Given the description of an element on the screen output the (x, y) to click on. 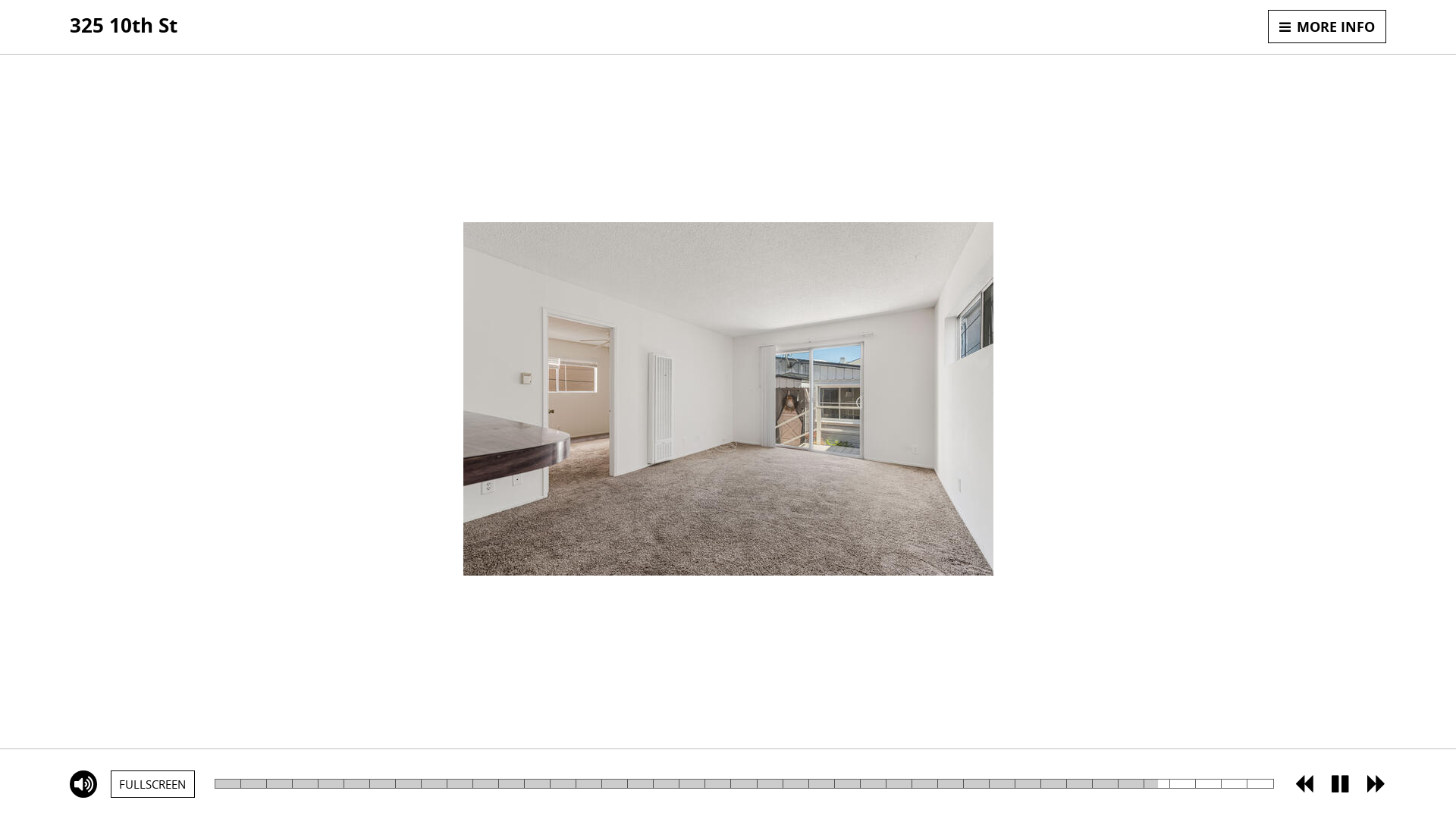
MORE INFO Element type: text (1326, 26)
